Given the description of an element on the screen output the (x, y) to click on. 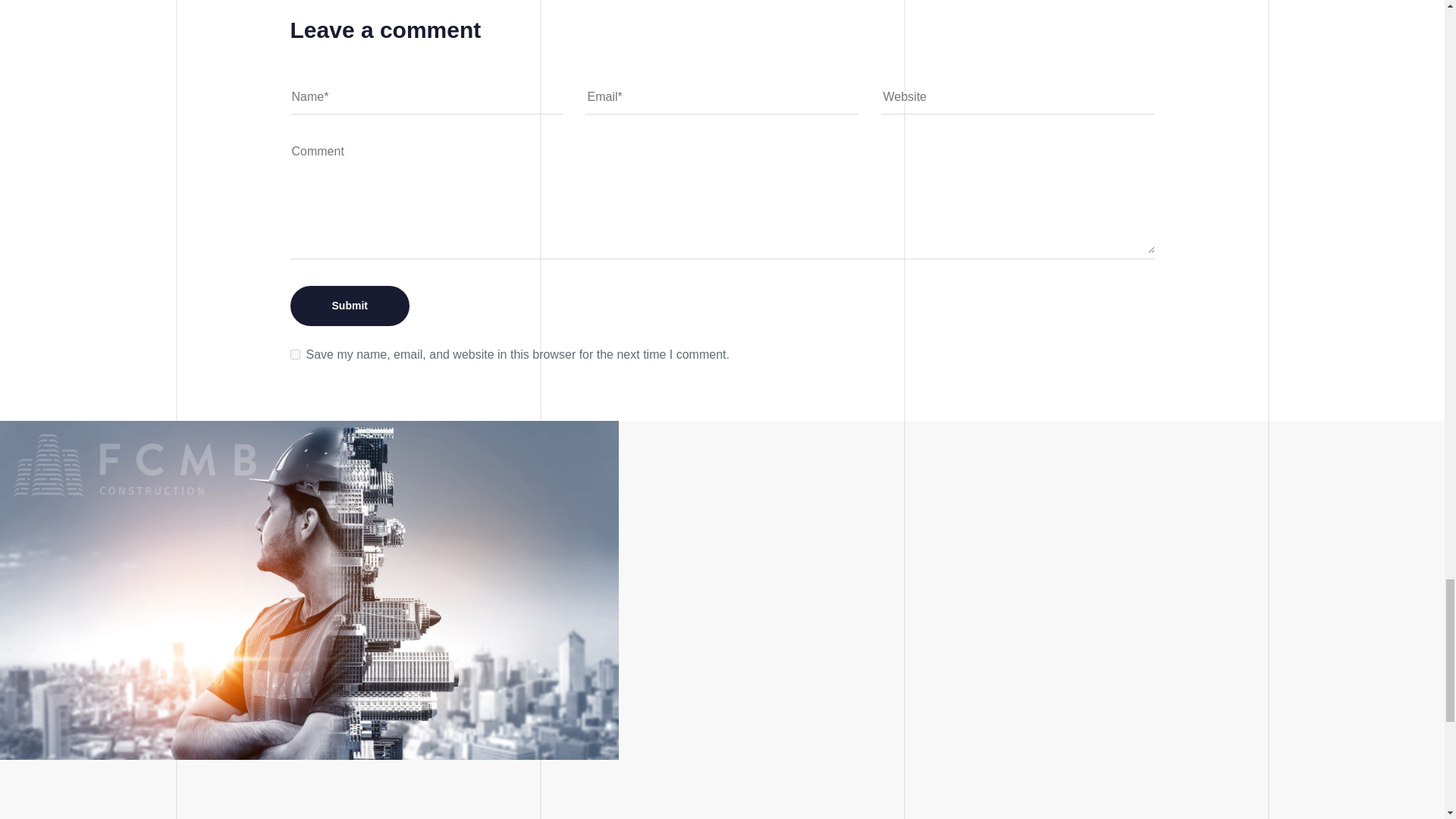
Submit (349, 305)
yes (294, 354)
Submit (349, 305)
